Given the description of an element on the screen output the (x, y) to click on. 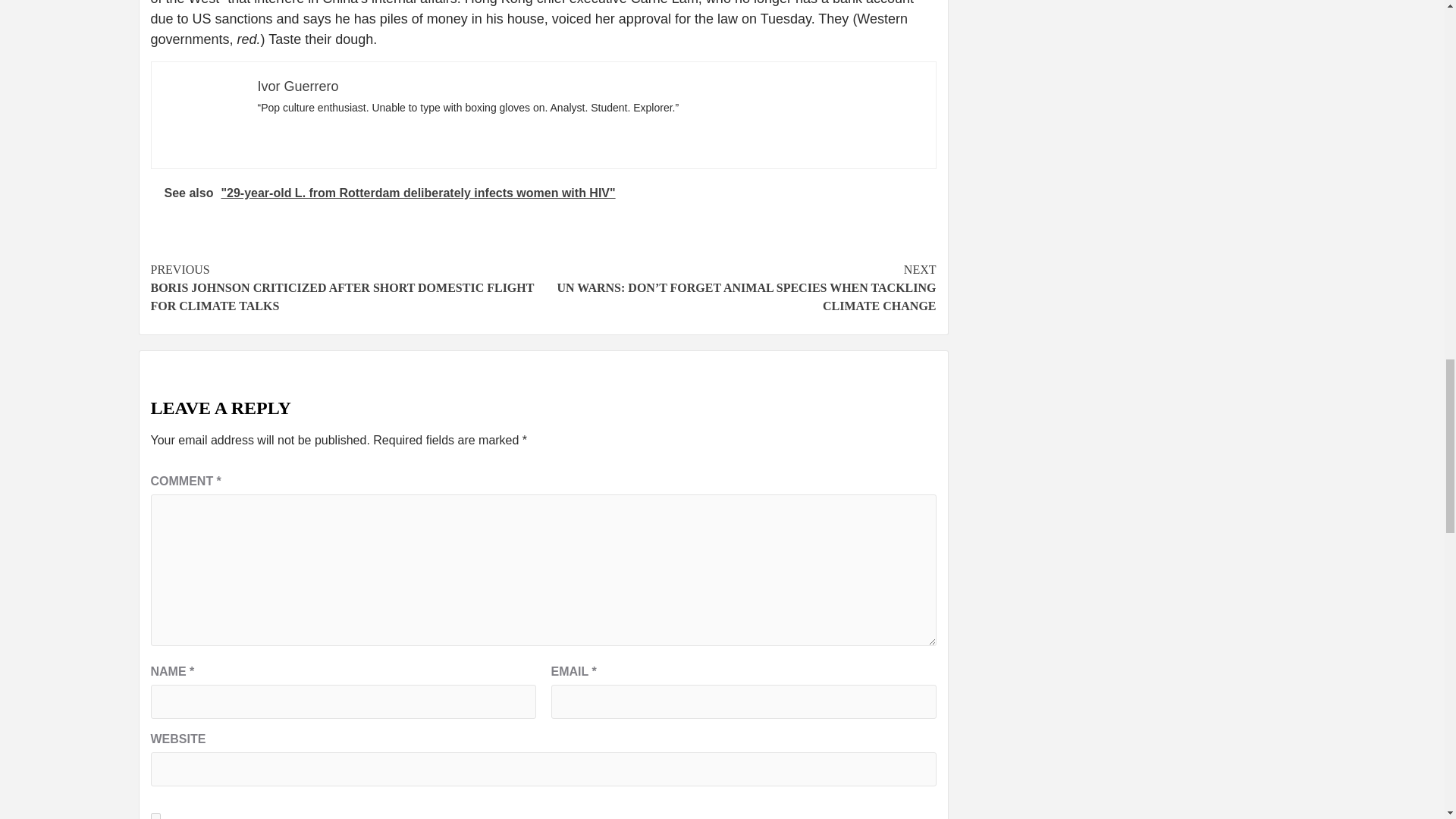
Ivor Guerrero (298, 86)
